Given the description of an element on the screen output the (x, y) to click on. 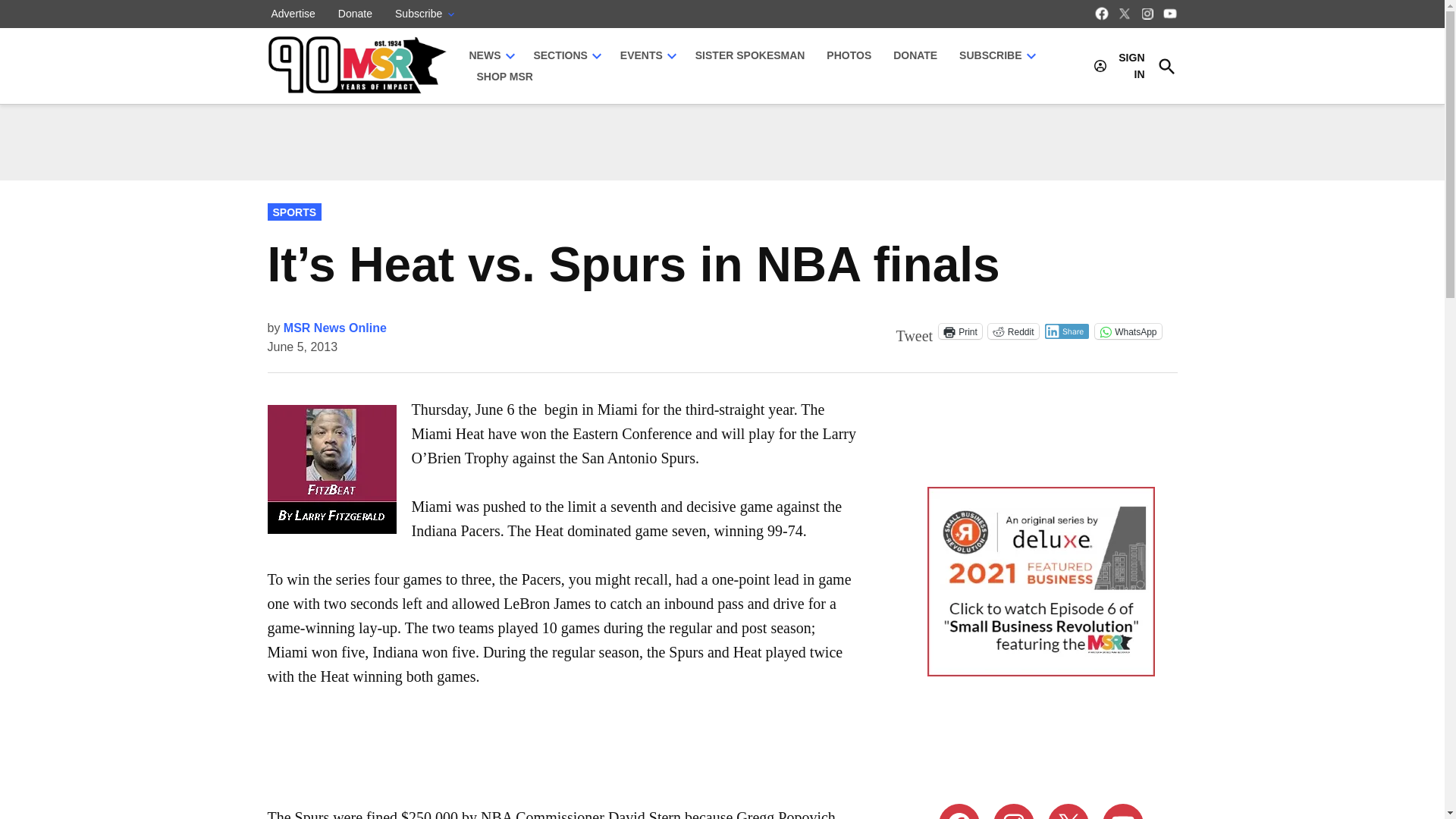
Click to print (960, 331)
Click to share on WhatsApp (1127, 331)
Click to share on Reddit (1013, 331)
